Given the description of an element on the screen output the (x, y) to click on. 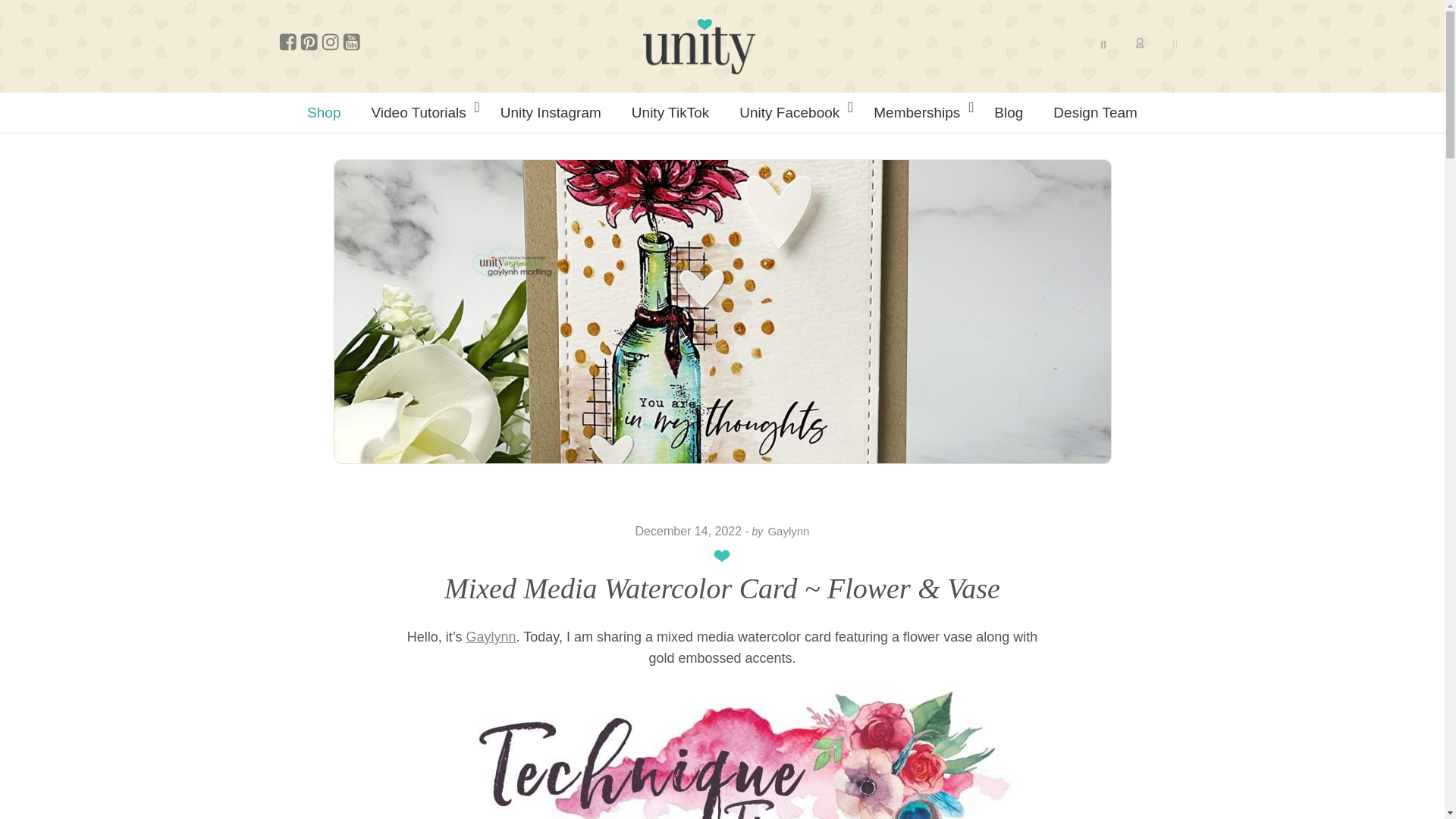
Video Tutorials (419, 112)
Unity Instagram (549, 112)
Design Team (1095, 112)
Gaylynn (788, 530)
Gaylynn (490, 636)
UNITY BLOG (698, 46)
Unity Blog (698, 46)
Memberships (918, 112)
Unity TikTok (669, 112)
Blog (1008, 112)
Shop (323, 112)
Unity Facebook (791, 112)
